Given the description of an element on the screen output the (x, y) to click on. 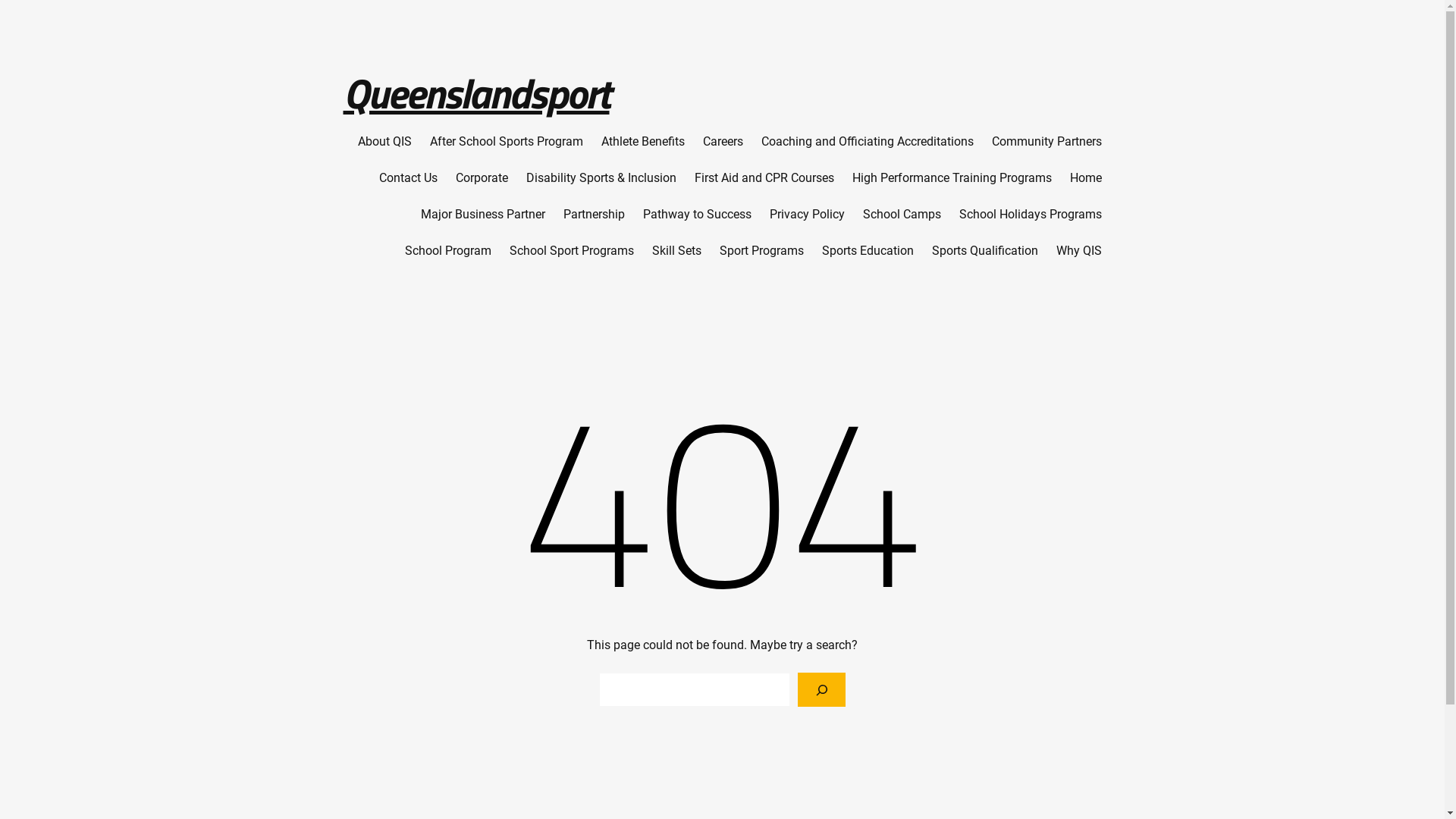
School Program Element type: text (447, 250)
Athlete Benefits Element type: text (642, 141)
High Performance Training Programs Element type: text (951, 178)
Coaching and Officiating Accreditations Element type: text (867, 141)
Sports Education Element type: text (867, 250)
Skill Sets Element type: text (676, 250)
Queenslandsport Element type: text (475, 92)
Disability Sports & Inclusion Element type: text (601, 178)
Privacy Policy Element type: text (806, 214)
Home Element type: text (1085, 178)
Partnership Element type: text (593, 214)
School Sport Programs Element type: text (571, 250)
Sports Qualification Element type: text (984, 250)
Contact Us Element type: text (408, 178)
About QIS Element type: text (384, 141)
Major Business Partner Element type: text (482, 214)
Careers Element type: text (722, 141)
First Aid and CPR Courses Element type: text (764, 178)
School Holidays Programs Element type: text (1029, 214)
Corporate Element type: text (481, 178)
Sport Programs Element type: text (760, 250)
Community Partners Element type: text (1046, 141)
After School Sports Program Element type: text (505, 141)
Why QIS Element type: text (1078, 250)
Pathway to Success Element type: text (697, 214)
School Camps Element type: text (901, 214)
